Given the description of an element on the screen output the (x, y) to click on. 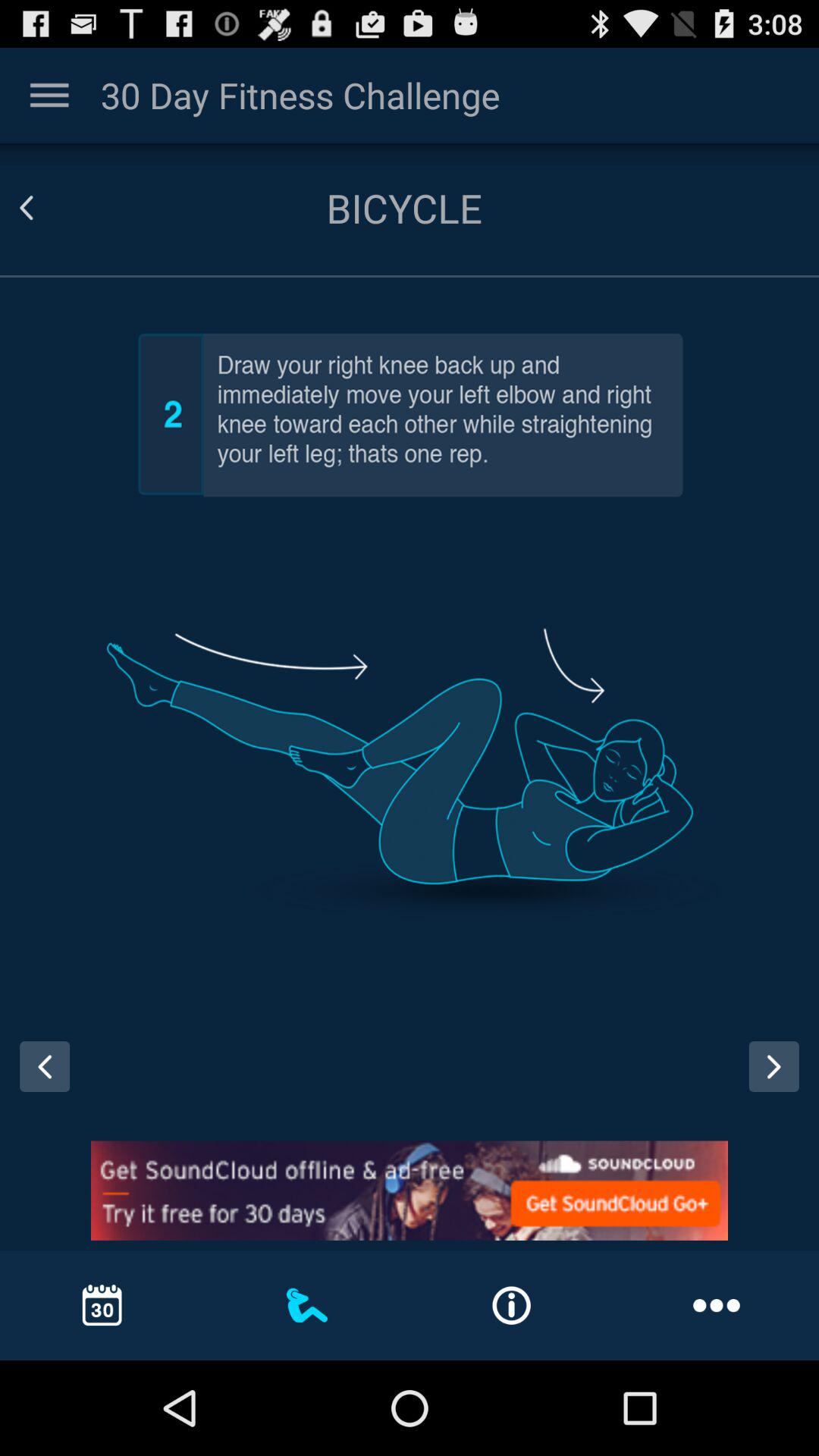
back the option (774, 1066)
